Given the description of an element on the screen output the (x, y) to click on. 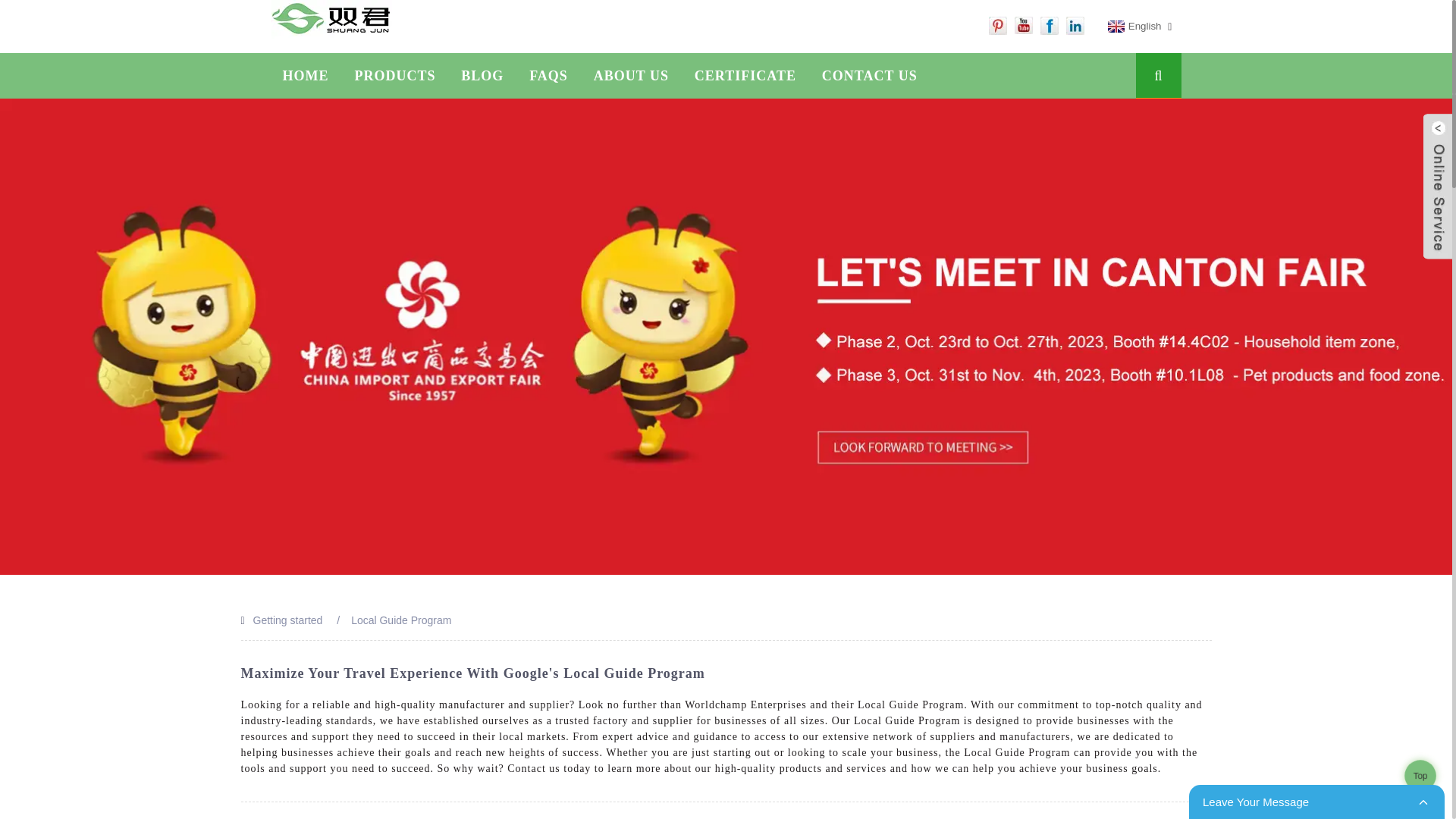
English (1132, 26)
HOME (305, 75)
PRODUCTS (394, 75)
Local Guide Program (400, 620)
FAQS (548, 75)
Getting started (288, 620)
BLOG (482, 75)
ABOUT US (630, 75)
CERTIFICATE (745, 75)
CONTACT US (869, 75)
